Given the description of an element on the screen output the (x, y) to click on. 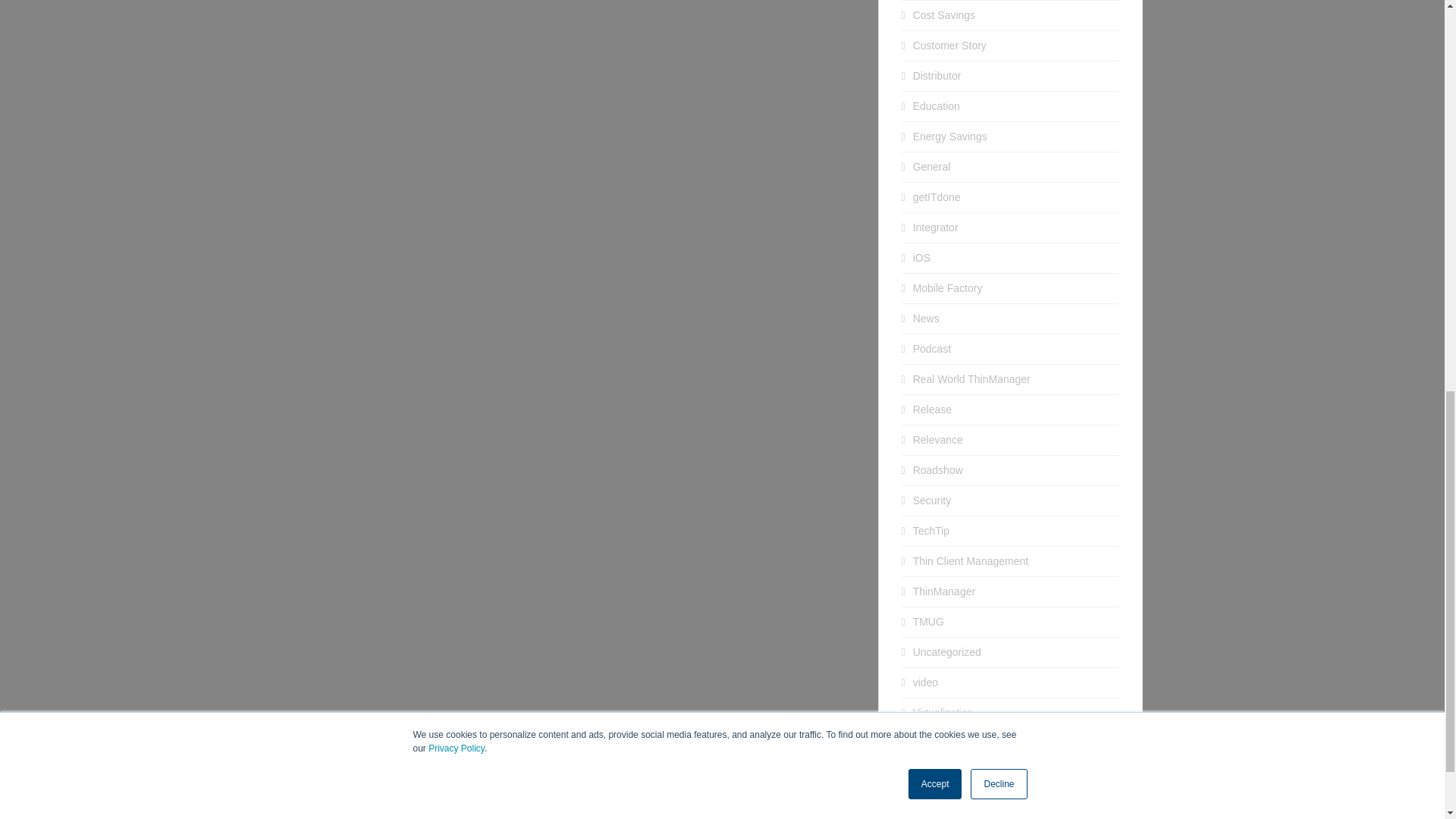
Education (935, 105)
Energy Savings (949, 136)
General (931, 166)
Distributor (936, 75)
Customer Story (949, 45)
Cost Savings (943, 15)
